Given the description of an element on the screen output the (x, y) to click on. 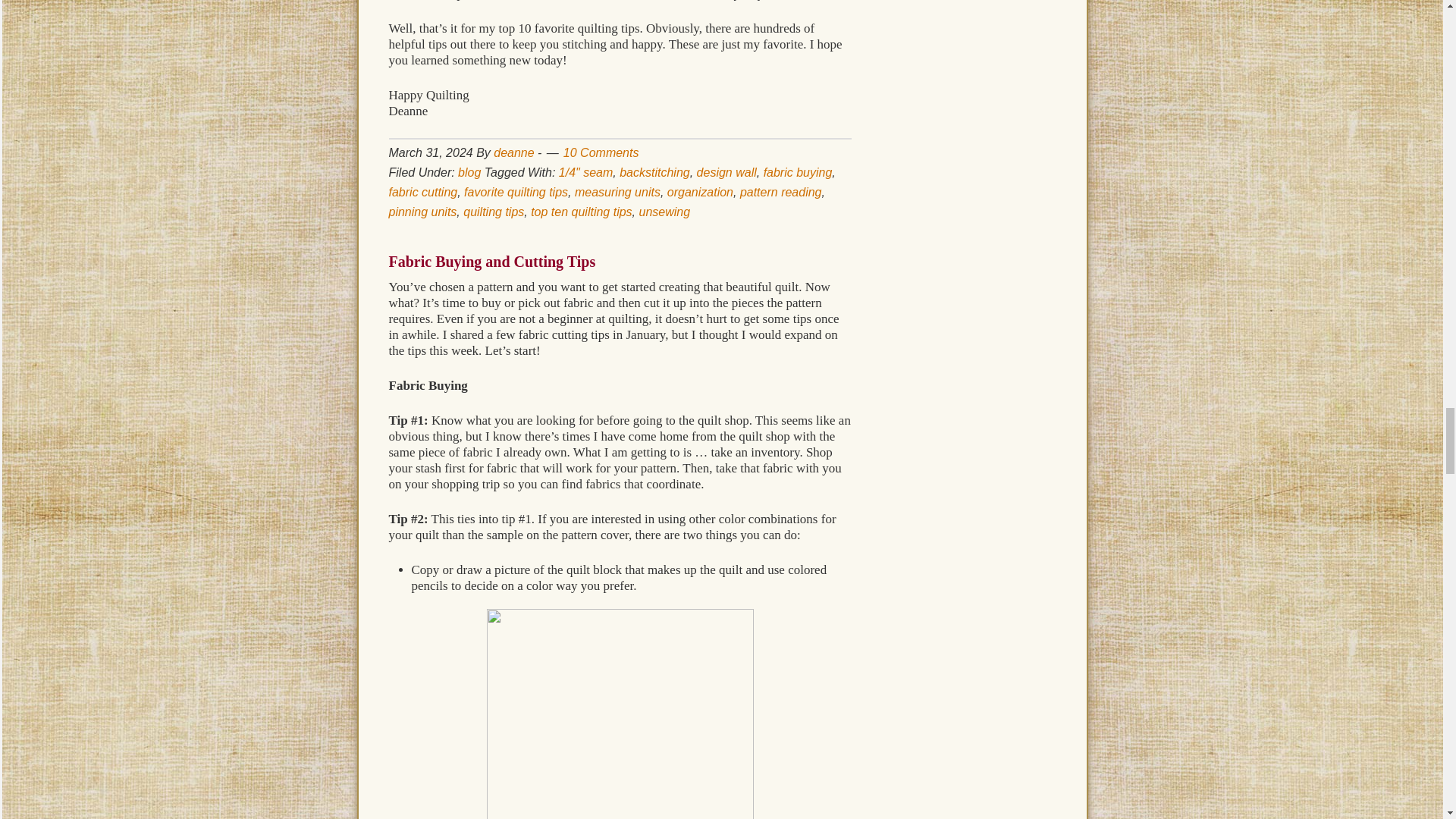
fabric cutting (422, 192)
pattern reading (780, 192)
quilting tips (493, 211)
fabric buying (797, 172)
measuring units (618, 192)
top ten quilting tips (581, 211)
pinning units (422, 211)
organization (699, 192)
favorite quilting tips (515, 192)
unsewing (664, 211)
Fabric Buying and Cutting Tips (491, 261)
backstitching (655, 172)
blog (469, 172)
10 Comments (601, 152)
deanne (513, 152)
